Given the description of an element on the screen output the (x, y) to click on. 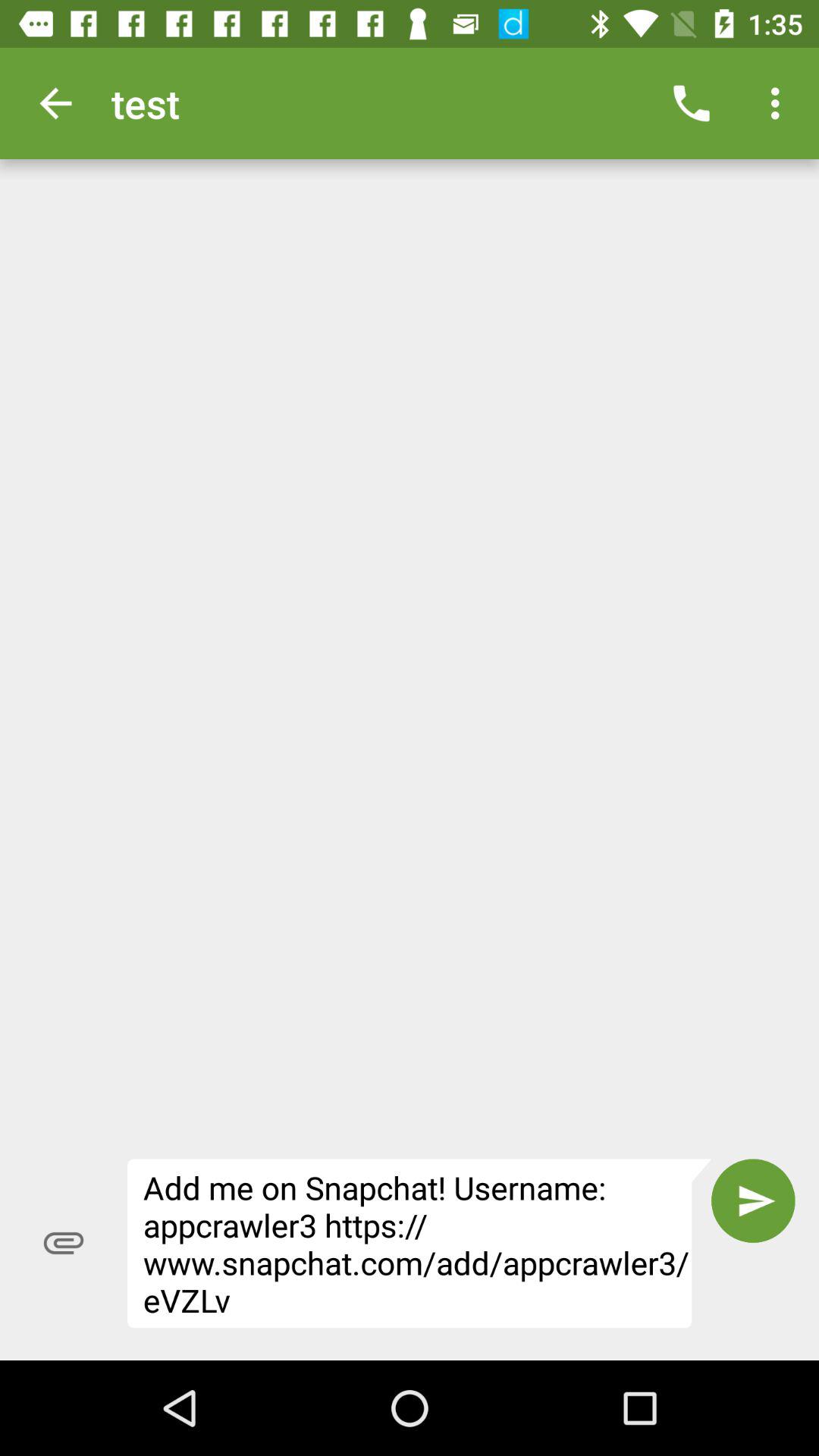
open the item at the top left corner (55, 103)
